Given the description of an element on the screen output the (x, y) to click on. 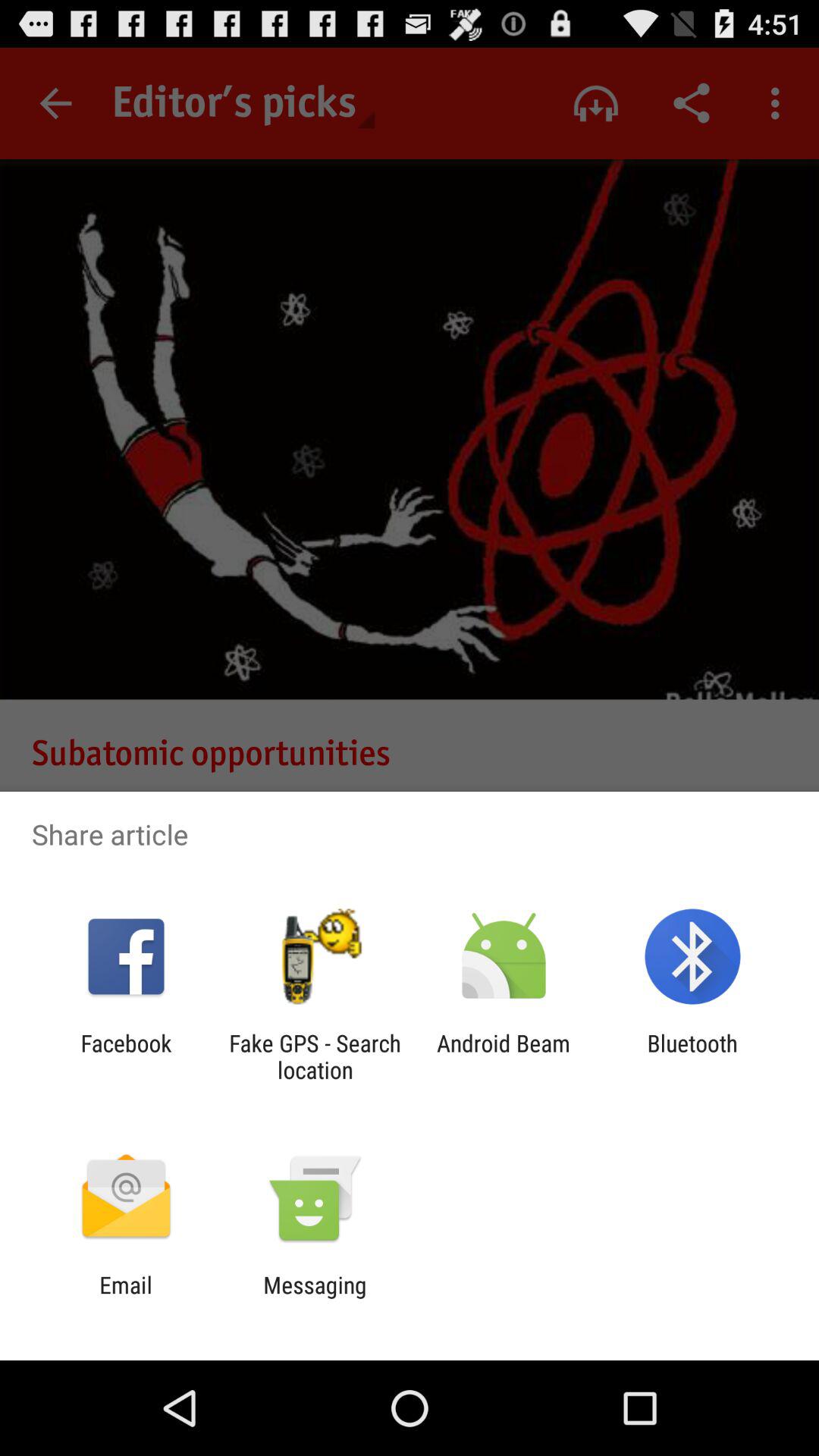
scroll to facebook icon (125, 1056)
